Given the description of an element on the screen output the (x, y) to click on. 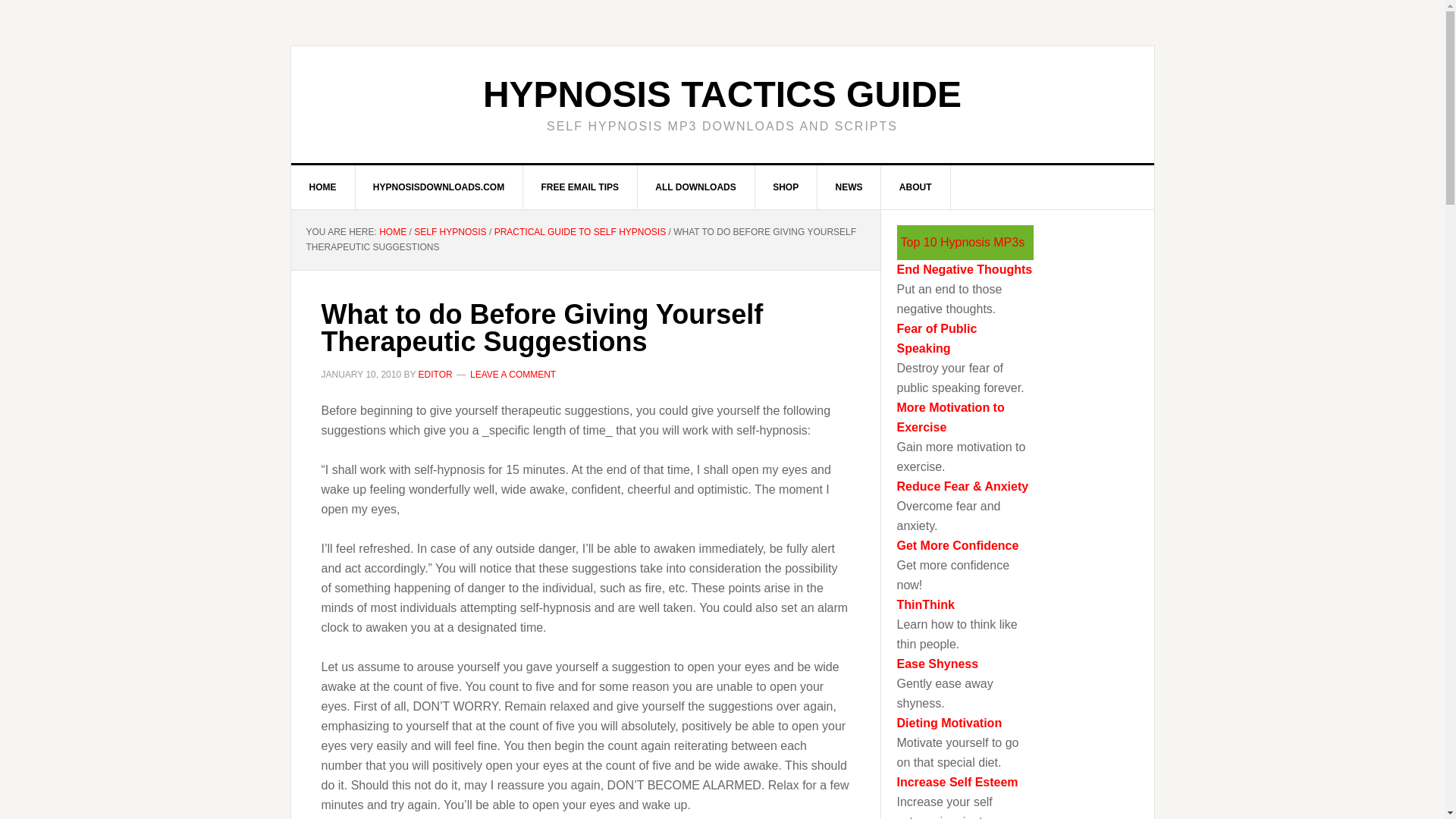
HOME (392, 231)
FREE EMAIL TIPS (579, 187)
Increase Self Esteem (956, 781)
ALL DOWNLOADS (695, 187)
HYPNOSIS TACTICS GUIDE (721, 94)
More Motivation to Exercise (950, 417)
ABOUT (915, 187)
SELF HYPNOSIS (449, 231)
HYPNOSISDOWNLOADS.COM (438, 187)
